Given the description of an element on the screen output the (x, y) to click on. 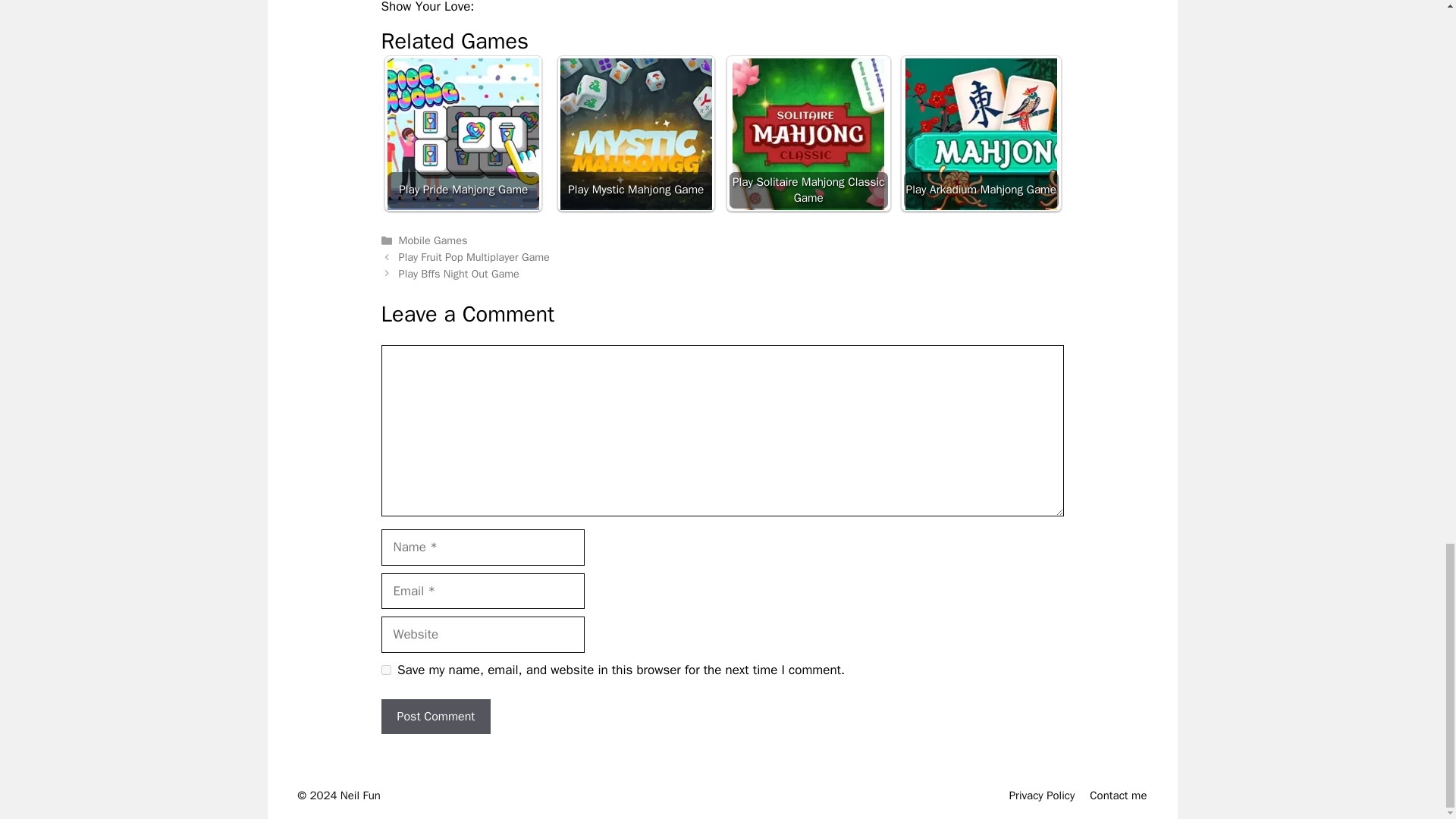
Post Comment (435, 716)
yes (385, 669)
Play Mystic Mahjong Game (635, 133)
Play Solitaire Mahjong Classic Game (807, 133)
Play Pride Mahjong Game (462, 133)
Contact me (1118, 795)
Play Fruit Pop Multiplayer Game (474, 256)
Play Pride Mahjong Game (463, 133)
Post Comment (435, 716)
Play Arkadium Mahjong Game (981, 133)
